Given the description of an element on the screen output the (x, y) to click on. 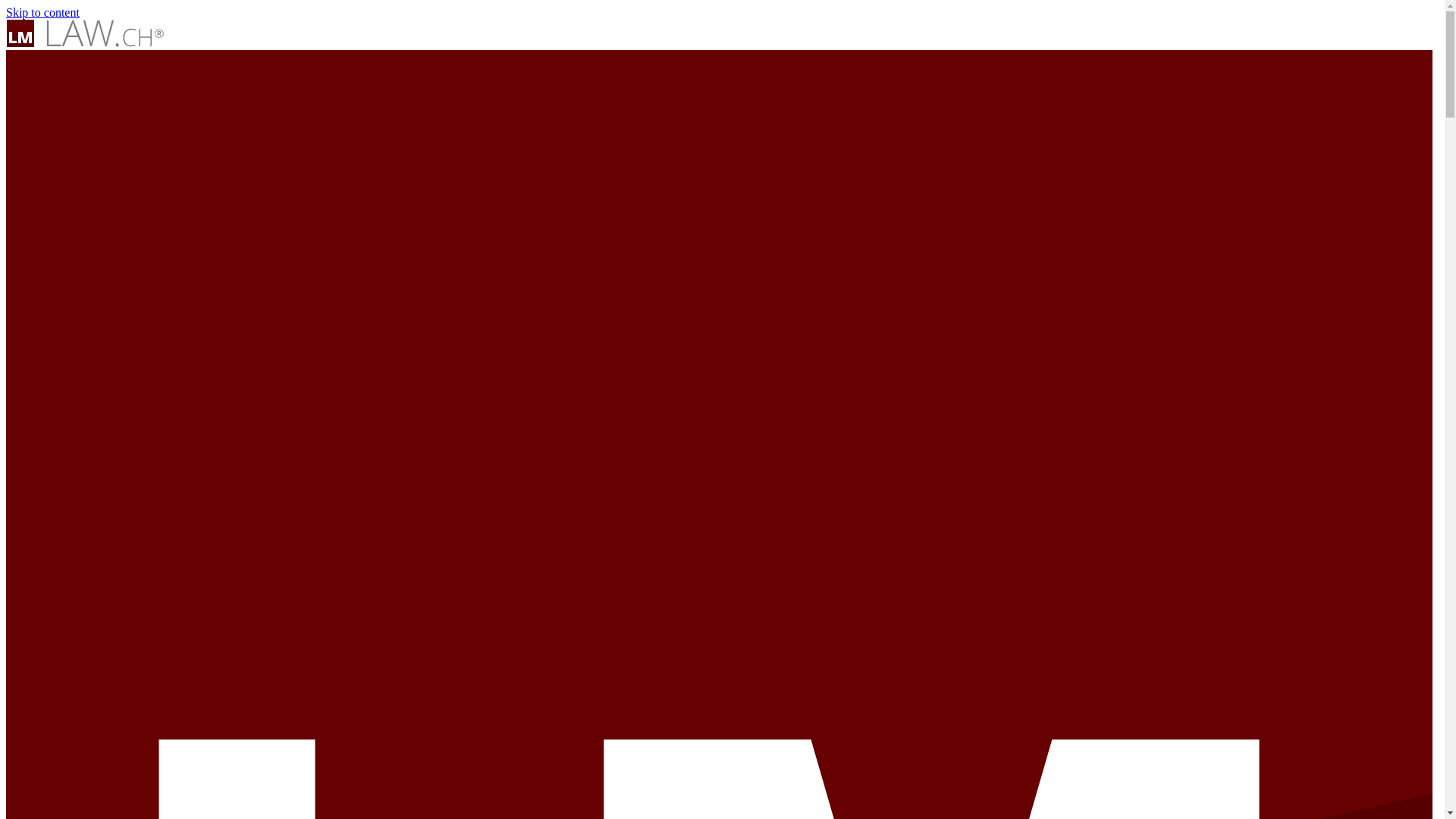
Skip to content Element type: text (42, 12)
